Given the description of an element on the screen output the (x, y) to click on. 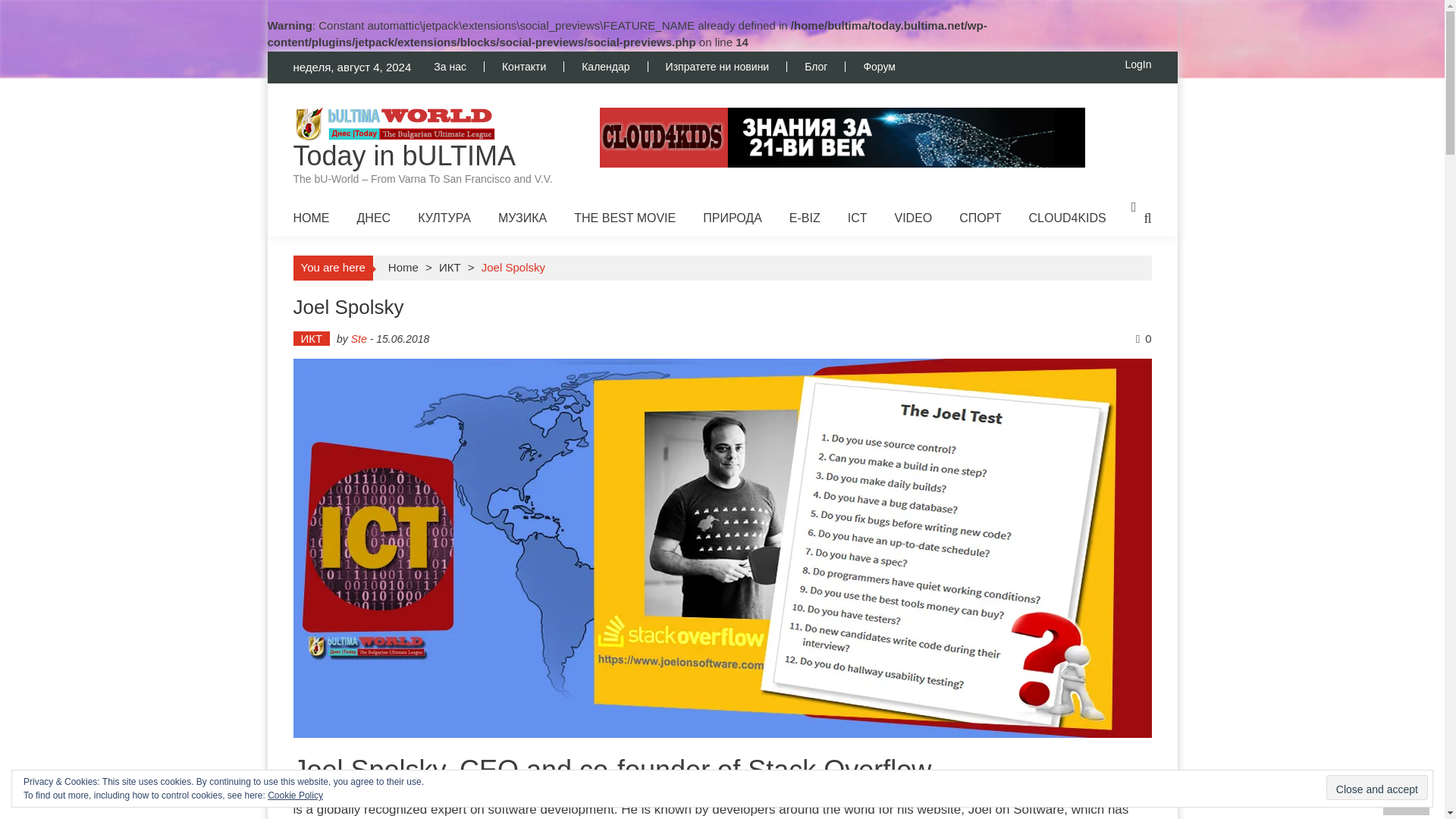
LogIn (1137, 63)
Close and accept (1377, 787)
HOME (310, 217)
